Given the description of an element on the screen output the (x, y) to click on. 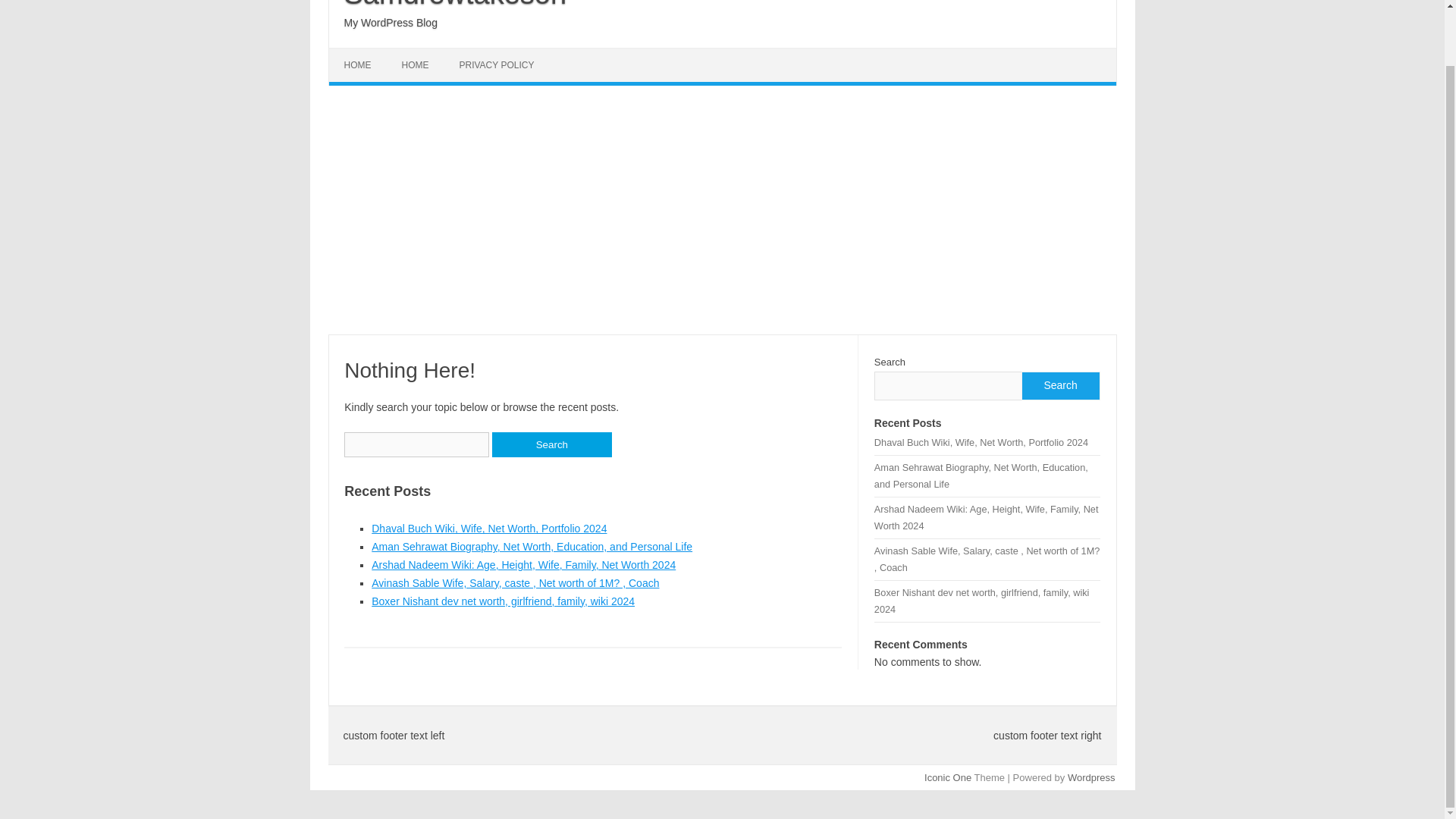
HOME (415, 64)
Dhaval Buch Wiki, Wife, Net Worth, Portfolio 2024 (489, 528)
Boxer Nishant dev net worth, girlfriend, family, wiki 2024 (982, 601)
Avinash Sable Wife, Salary, caste , Net worth of 1M? , Coach (987, 559)
Samdrewtakeson (455, 4)
Wordpress (1091, 777)
Boxer Nishant dev net worth, girlfriend, family, wiki 2024 (502, 601)
Search (551, 444)
Avinash Sable Wife, Salary, caste , Net worth of 1M? , Coach (515, 582)
